Given the description of an element on the screen output the (x, y) to click on. 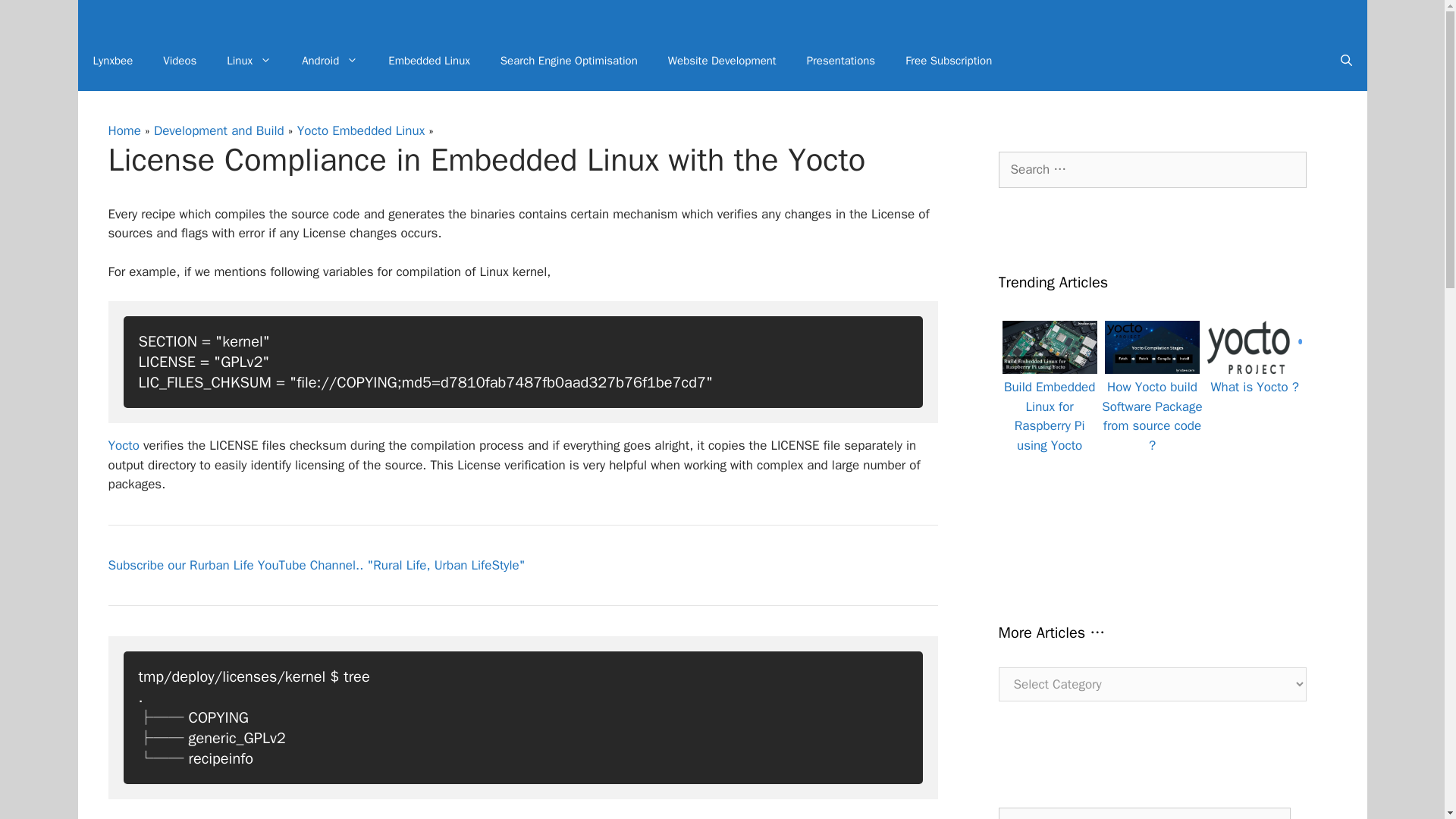
Android (329, 60)
Free Subscription (948, 60)
Presentations (840, 60)
Linux (248, 60)
Website Development (722, 60)
Search Engine Optimisation (568, 60)
Videos (179, 60)
Search for: (1151, 169)
Embedded Linux (428, 60)
Lynxbee (112, 60)
